Given the description of an element on the screen output the (x, y) to click on. 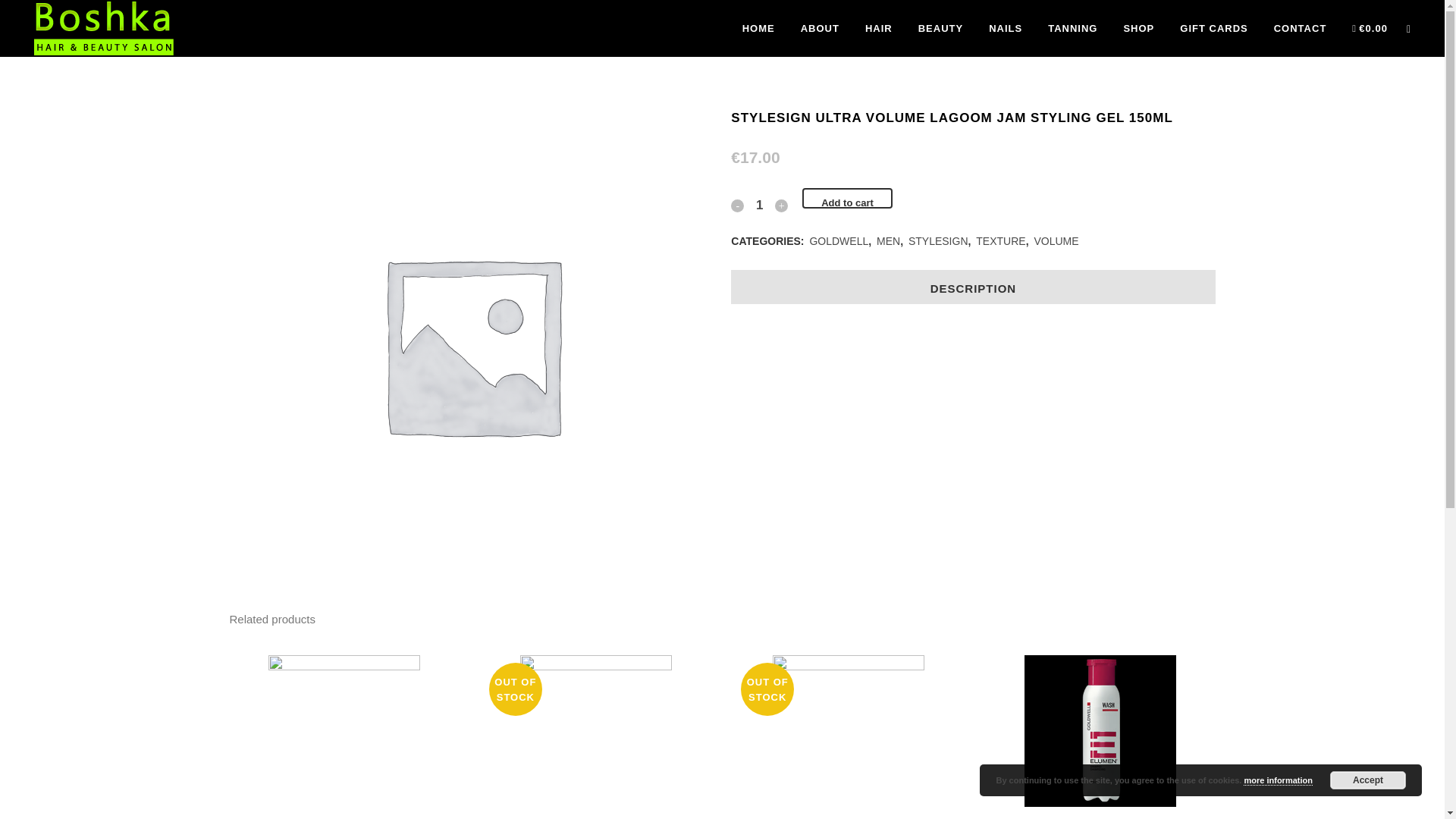
NAILS (1005, 28)
Add to cart (847, 198)
Start shopping (1369, 28)
- (737, 205)
MEN (887, 241)
GIFT CARDS (1213, 28)
TEXTURE (1000, 241)
VOLUME (1055, 241)
Qty (759, 205)
1 (759, 205)
ABOUT (819, 28)
HOME (758, 28)
BEAUTY (940, 28)
STYLESIGN (938, 241)
GOLDWELL (838, 241)
